Given the description of an element on the screen output the (x, y) to click on. 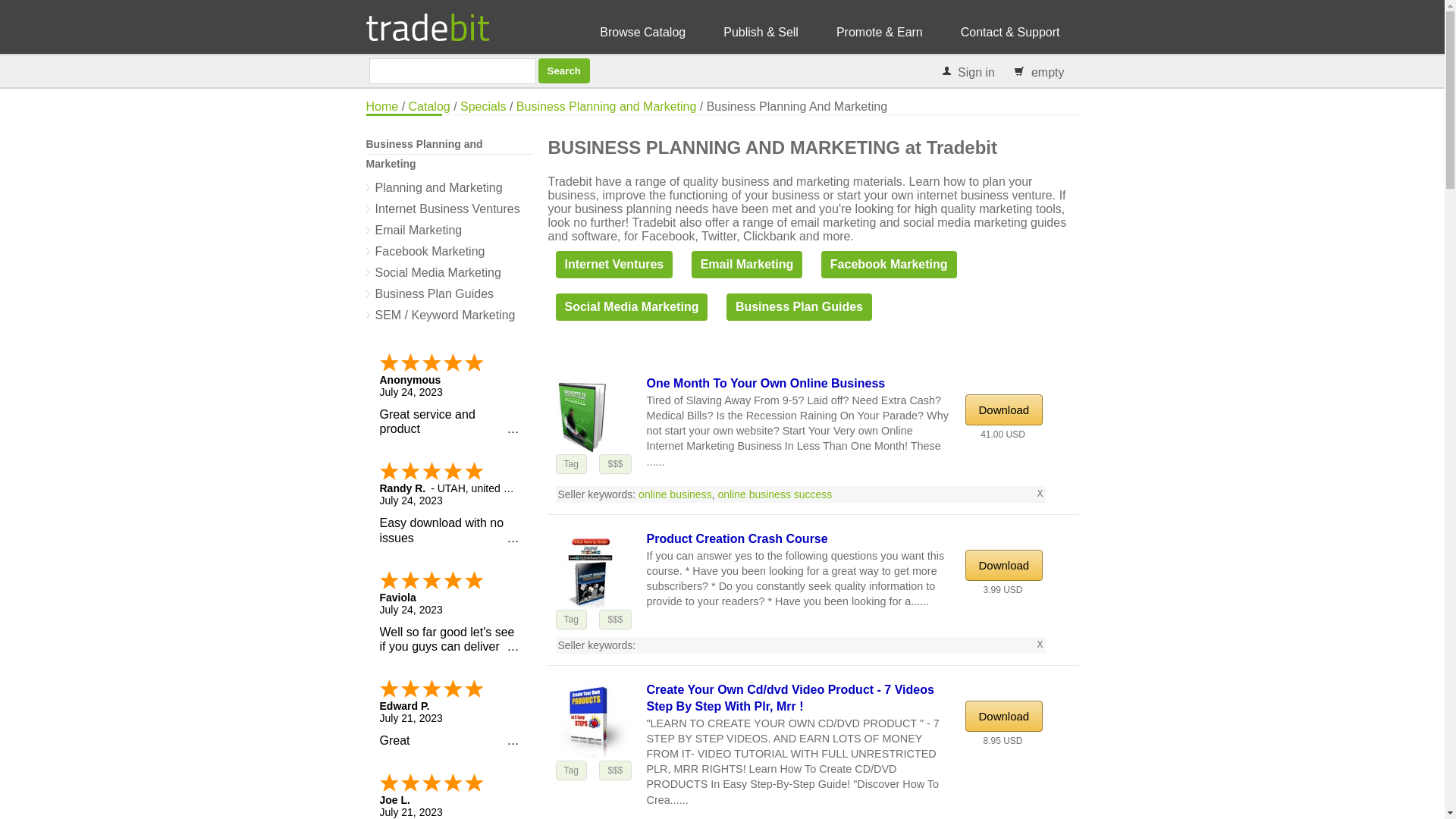
Business Planning and Marketing (605, 106)
Sign in (976, 72)
Search (563, 70)
One Month To Your Own Online Business (765, 382)
Internet Ventures (613, 264)
Planning and Marketing (448, 188)
Facebook Marketing (888, 264)
Download (1002, 409)
Catalog (429, 106)
Business Plan Guides (448, 293)
